Given the description of an element on the screen output the (x, y) to click on. 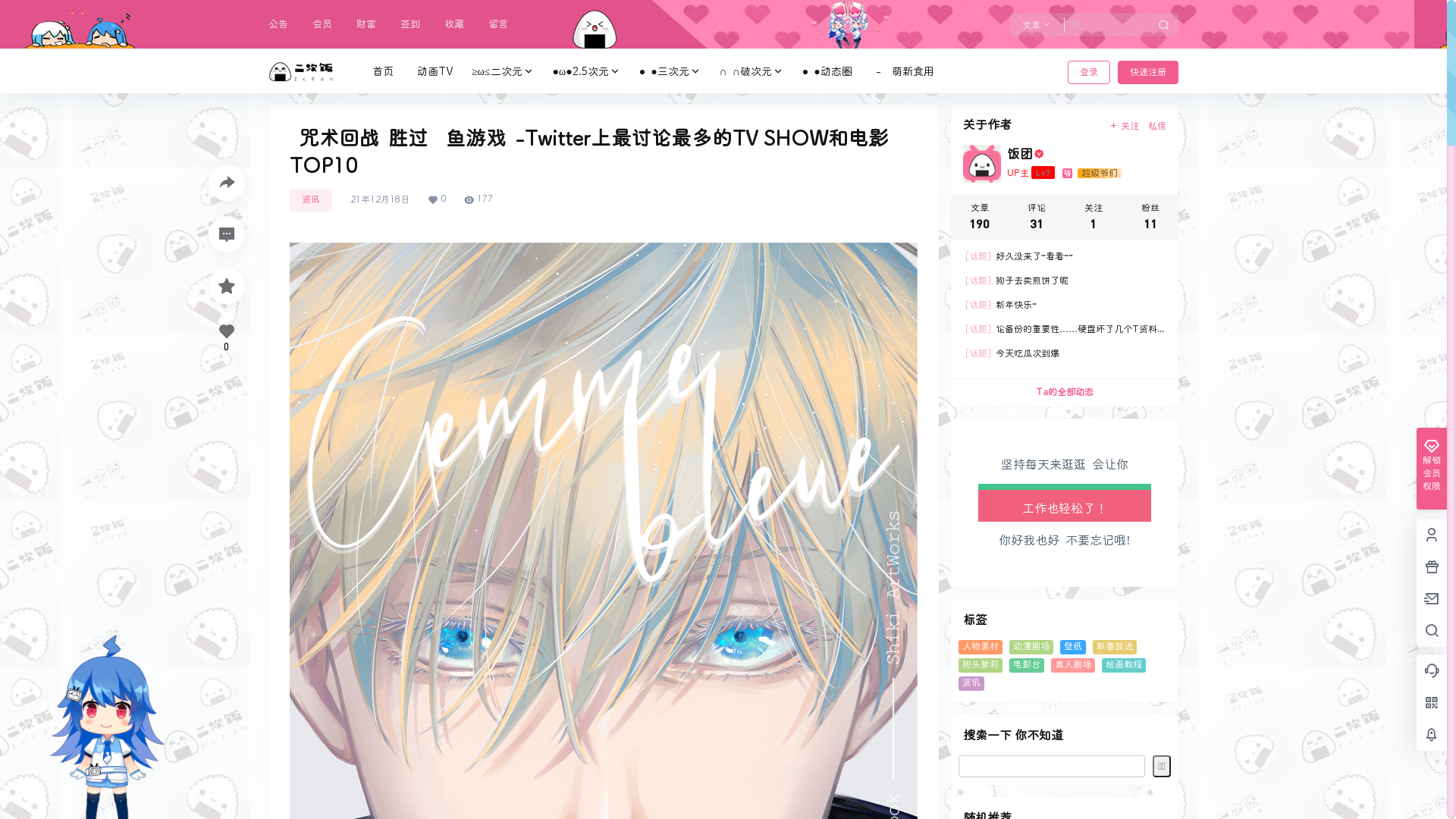
ok Element type: text (10, 10)
